Given the description of an element on the screen output the (x, y) to click on. 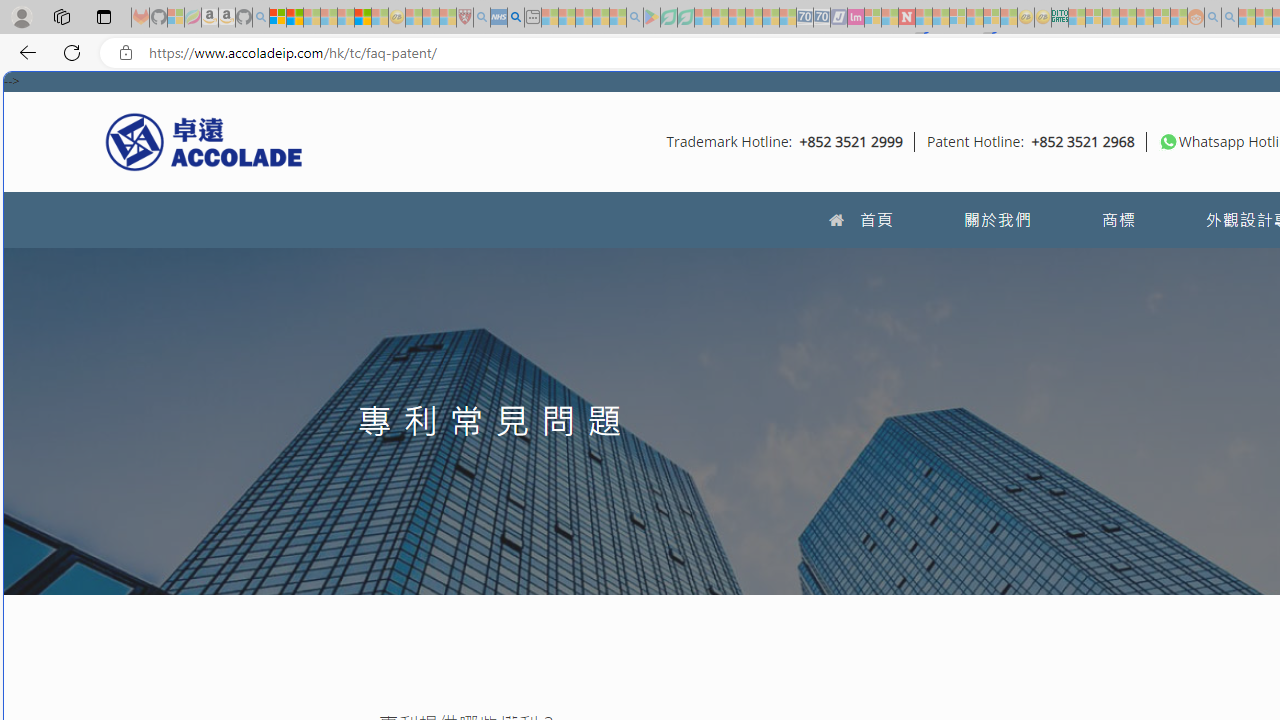
Refresh (72, 52)
Microsoft account | Privacy (277, 17)
Jobs - lastminute.com Investor Portal - Sleeping (855, 17)
Utah sues federal government - Search - Sleeping (1229, 17)
